Given the description of an element on the screen output the (x, y) to click on. 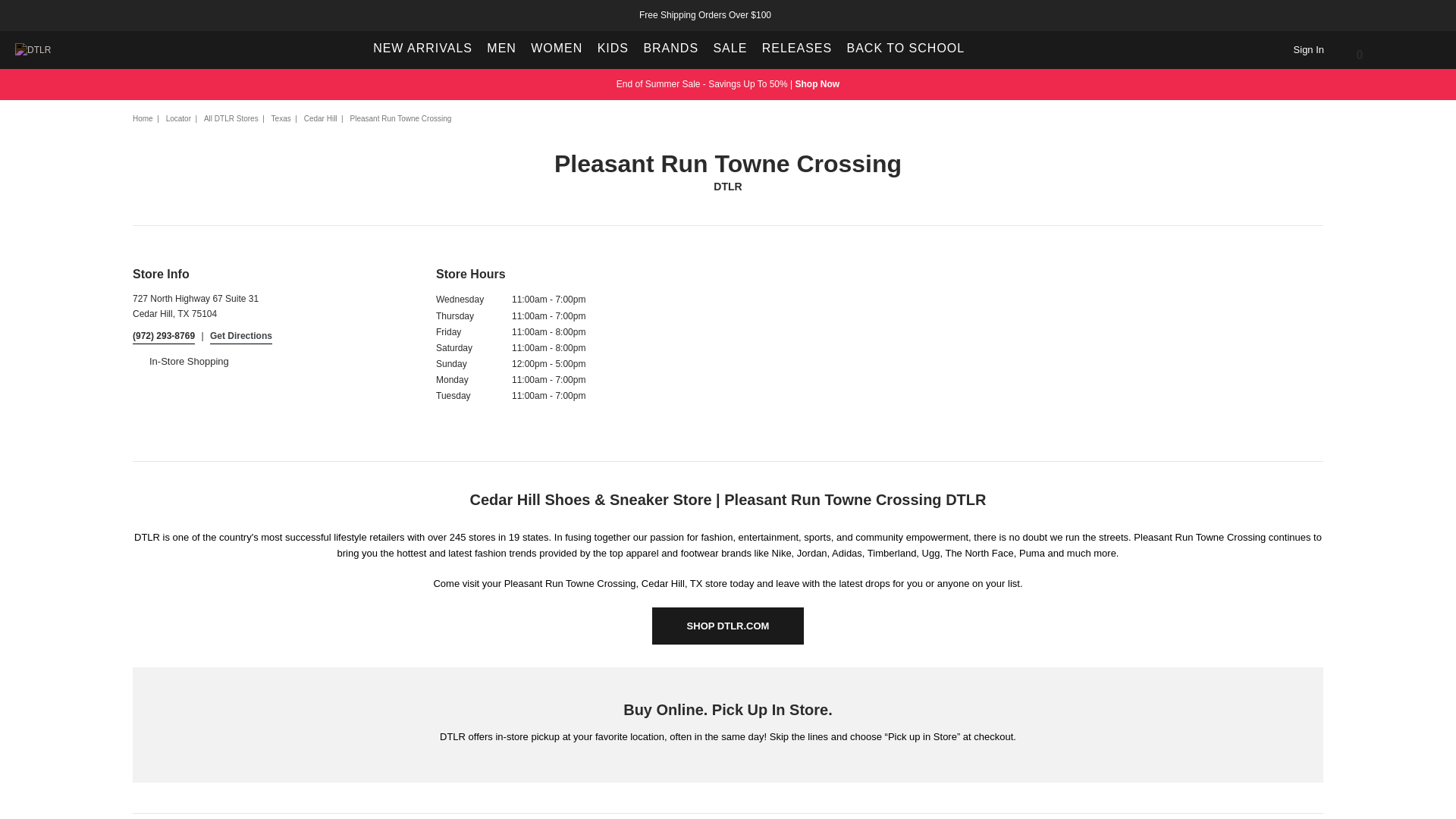
Call Store (163, 336)
All stores (231, 118)
Directions (240, 336)
View Cart (1349, 50)
Home (142, 118)
